Given the description of an element on the screen output the (x, y) to click on. 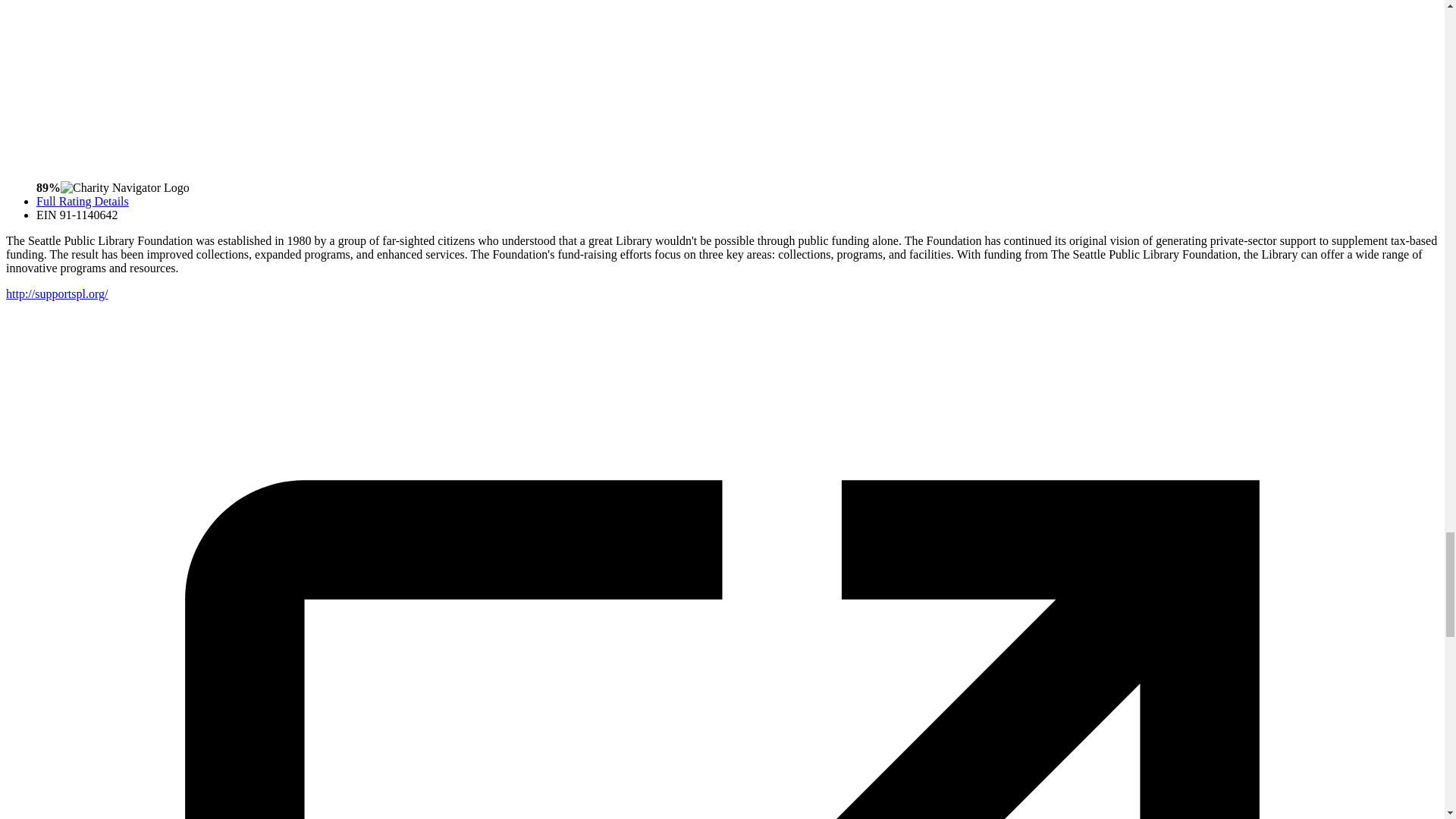
Full Rating Details (82, 201)
